Given the description of an element on the screen output the (x, y) to click on. 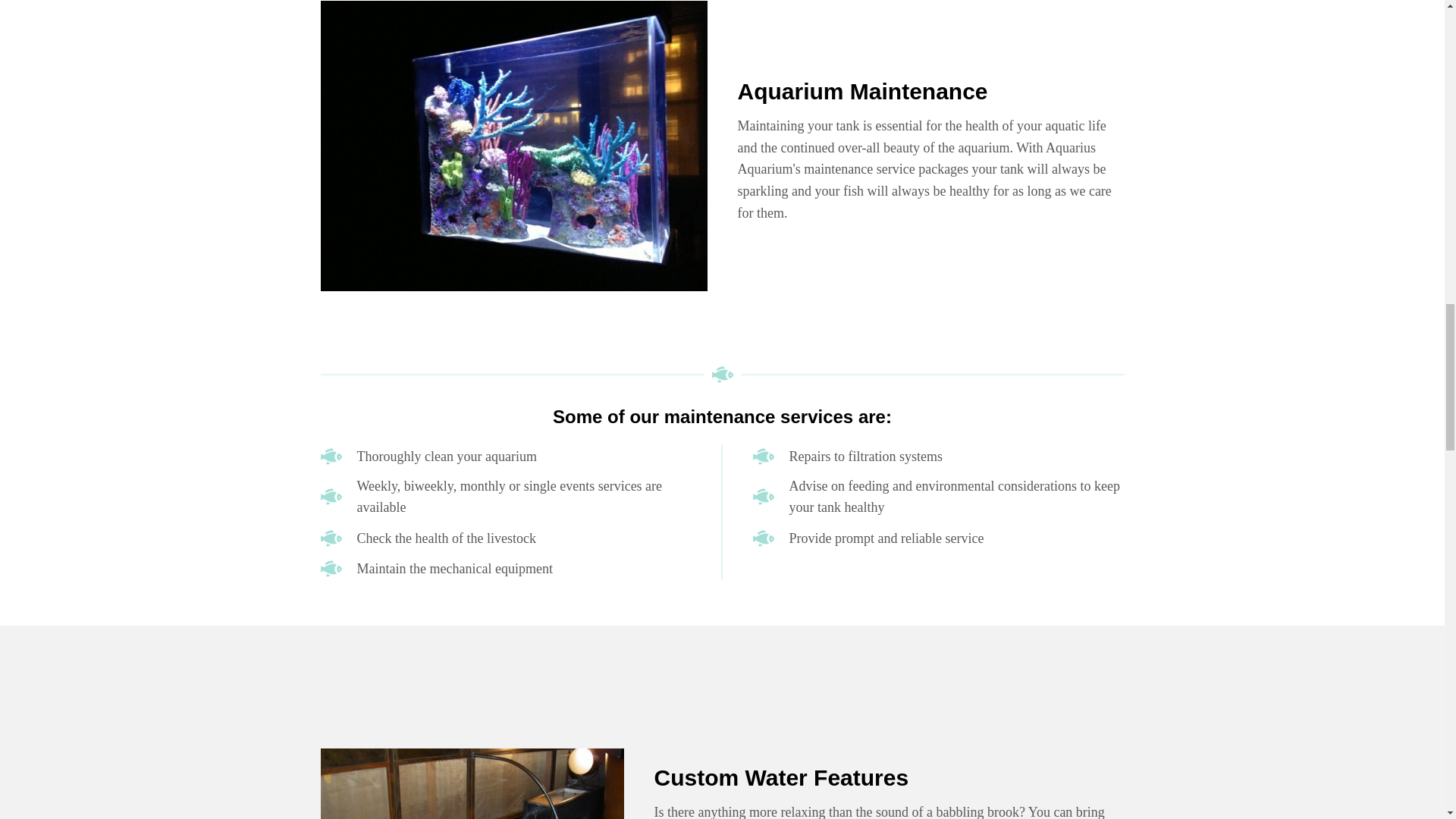
Aquarius Aquariums (330, 496)
Aquarius Aquariums (762, 456)
Aquarius Aquariums (330, 568)
Aquarius Aquariums (330, 456)
Aquarius Aquariums (721, 374)
Aquarius Aquariums (330, 538)
